Given the description of an element on the screen output the (x, y) to click on. 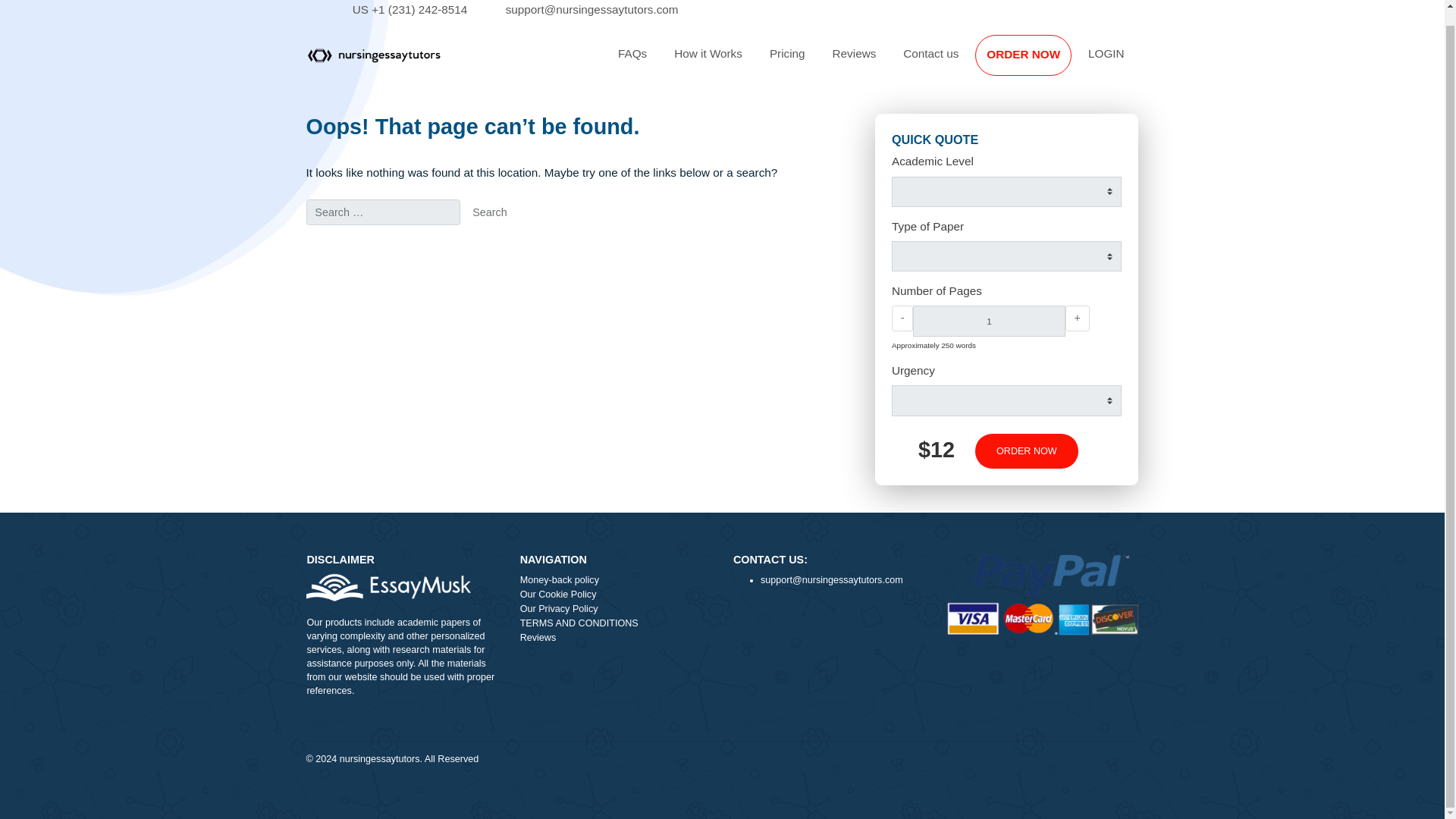
Pricing (875, 61)
1 (1098, 358)
Contact us (1034, 61)
Our Privacy Policy (685, 678)
Pricing (875, 61)
LOGIN (1229, 61)
How it Works (786, 61)
How it Works (786, 61)
Search (544, 237)
ORDER NOW (1137, 62)
Search (544, 237)
FAQs (702, 61)
FAQs (702, 61)
TERMS AND CONDITIONS (685, 694)
Search for: (425, 236)
